Given the description of an element on the screen output the (x, y) to click on. 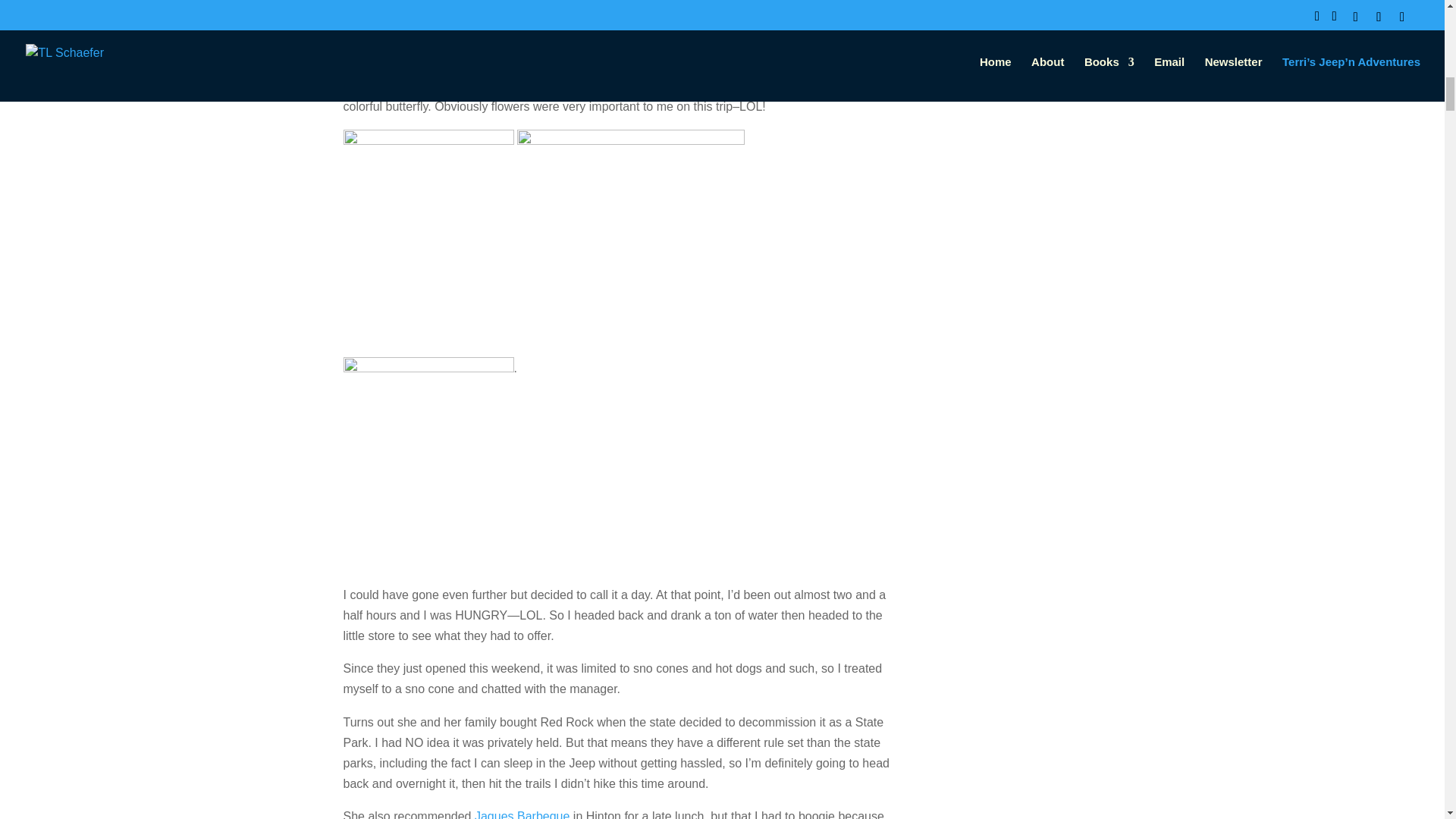
Jaques Barbeque (521, 814)
